Given the description of an element on the screen output the (x, y) to click on. 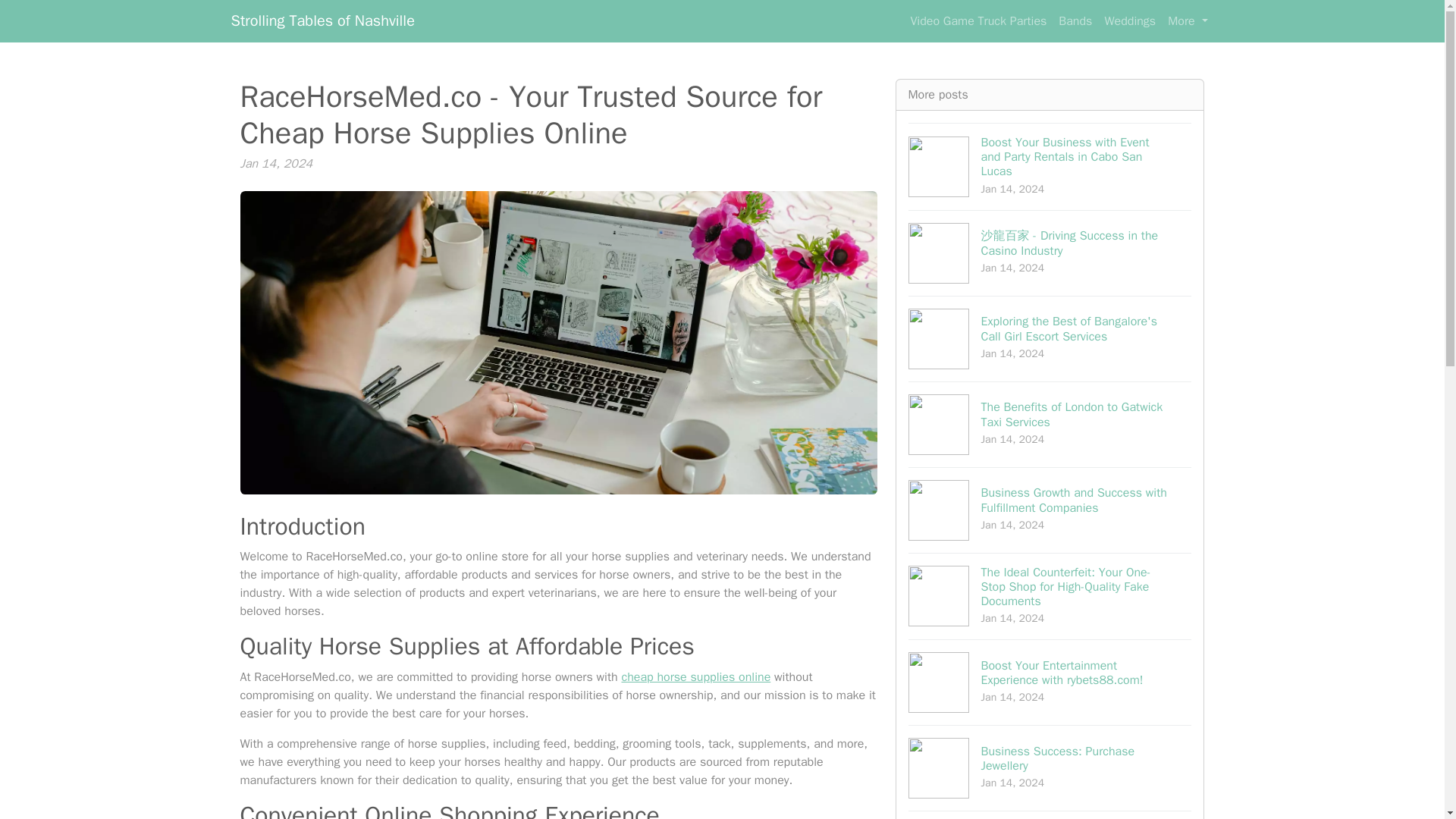
More (1186, 20)
Bands (1074, 20)
Video Game Truck Parties (978, 20)
Strolling Tables of Nashville (321, 20)
cheap horse supplies online (695, 676)
